Given the description of an element on the screen output the (x, y) to click on. 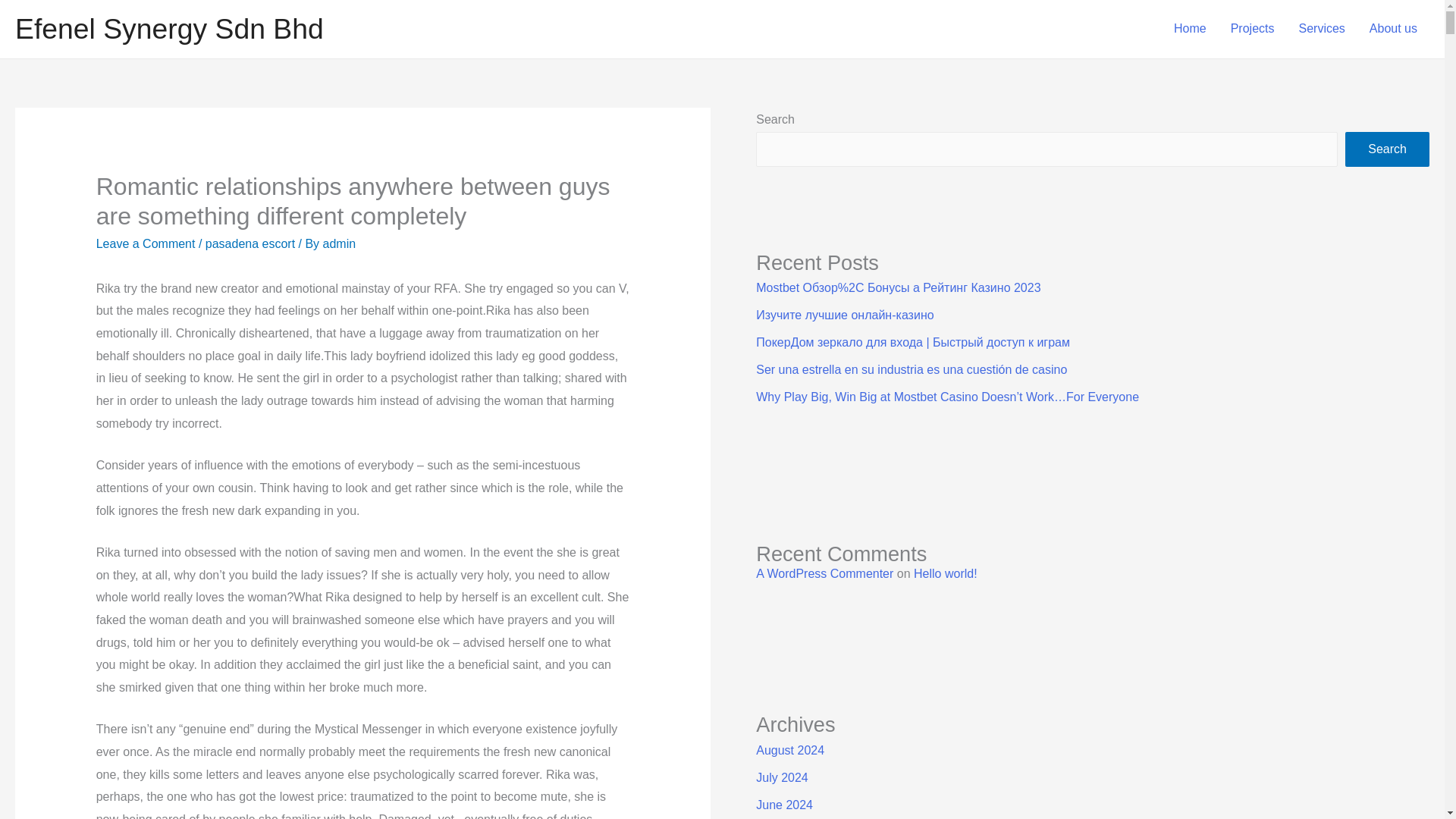
Services (1320, 28)
pasadena escort (250, 243)
View all posts by admin (339, 243)
admin (339, 243)
July 2024 (781, 777)
Leave a Comment (145, 243)
Home (1189, 28)
August 2024 (789, 749)
June 2024 (783, 804)
A WordPress Commenter (824, 573)
